Given the description of an element on the screen output the (x, y) to click on. 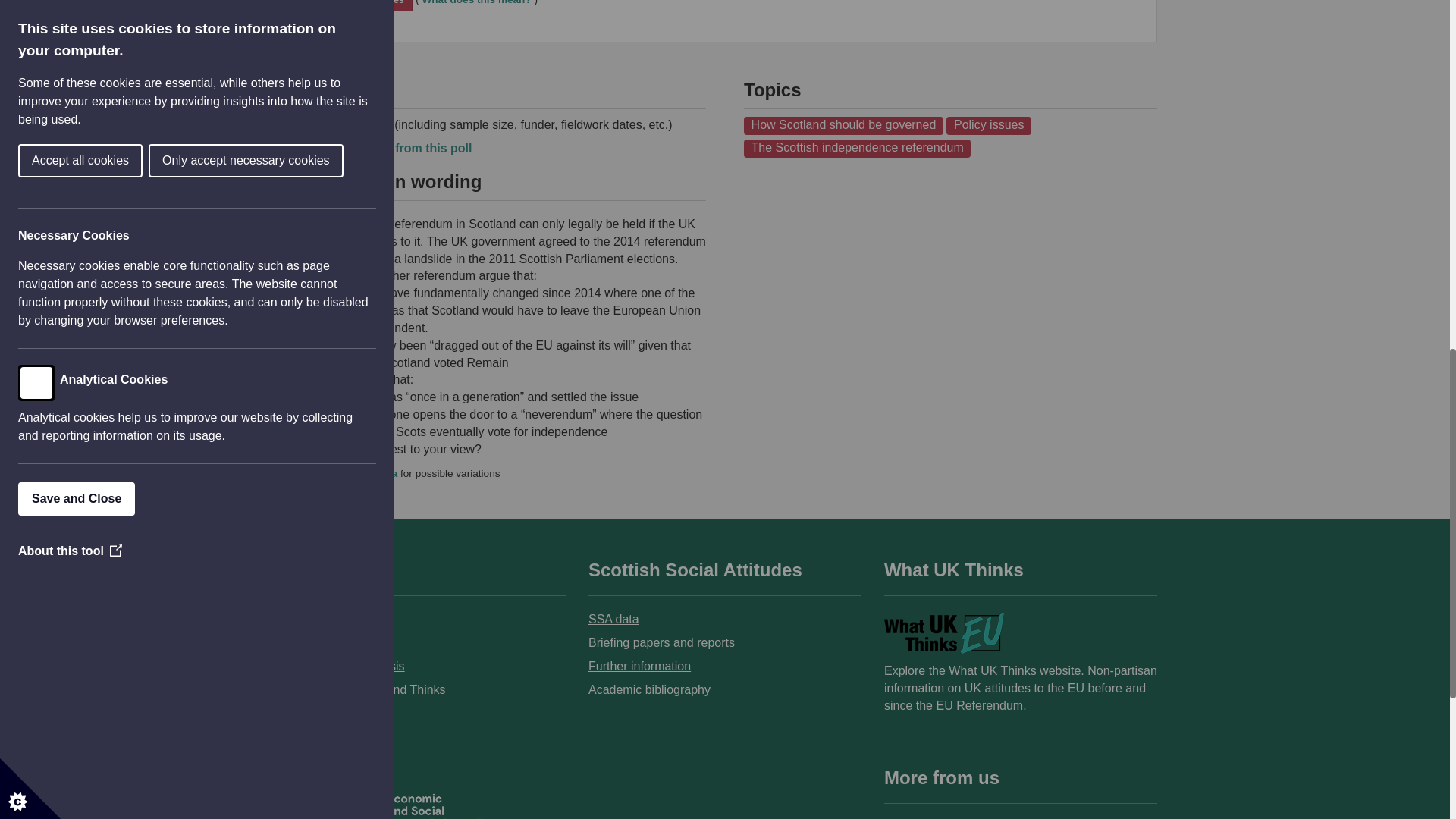
Combine responses (360, 5)
